Given the description of an element on the screen output the (x, y) to click on. 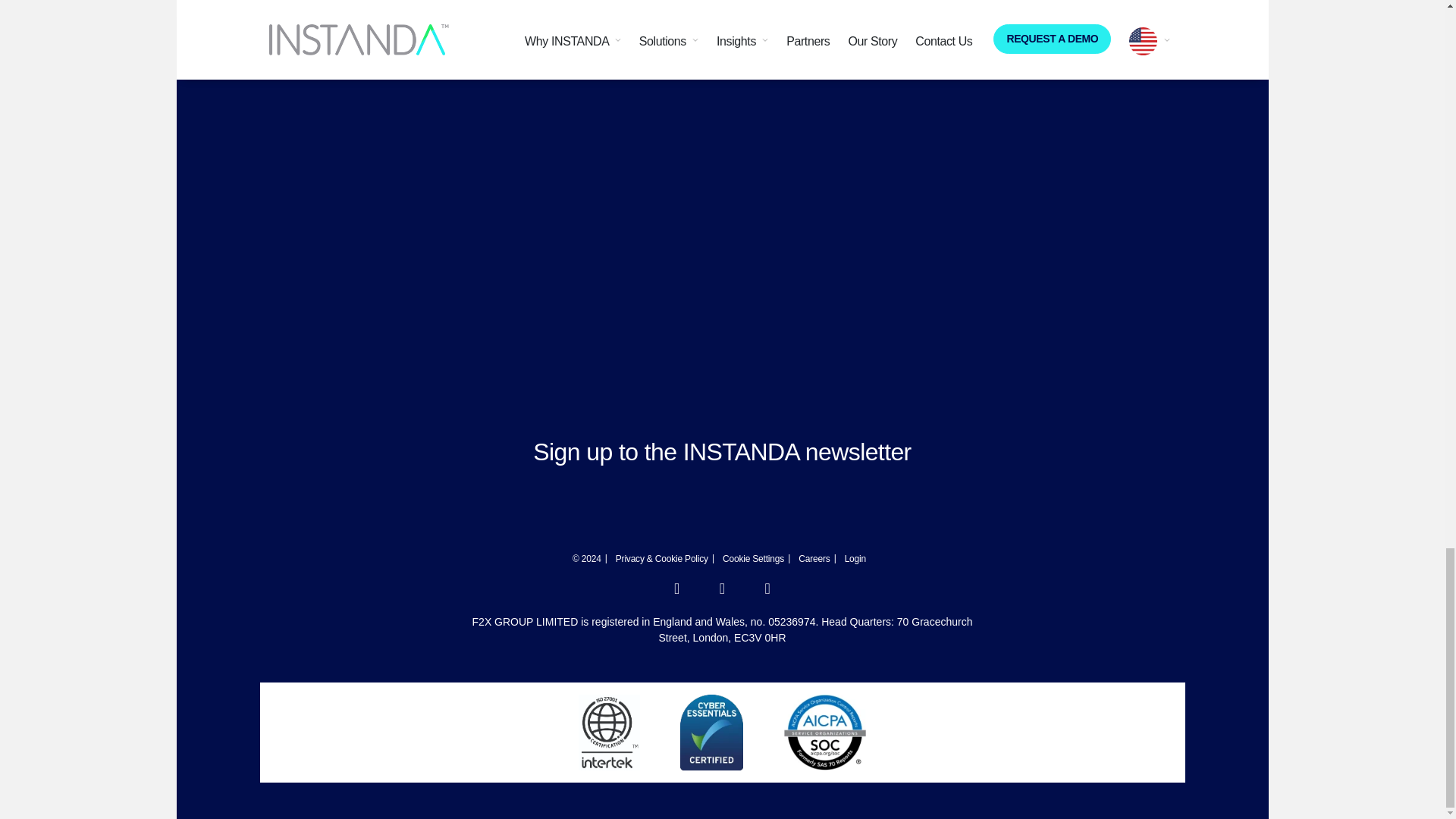
YouTube (767, 589)
LinkedIn (676, 589)
Twitter (721, 589)
